Given the description of an element on the screen output the (x, y) to click on. 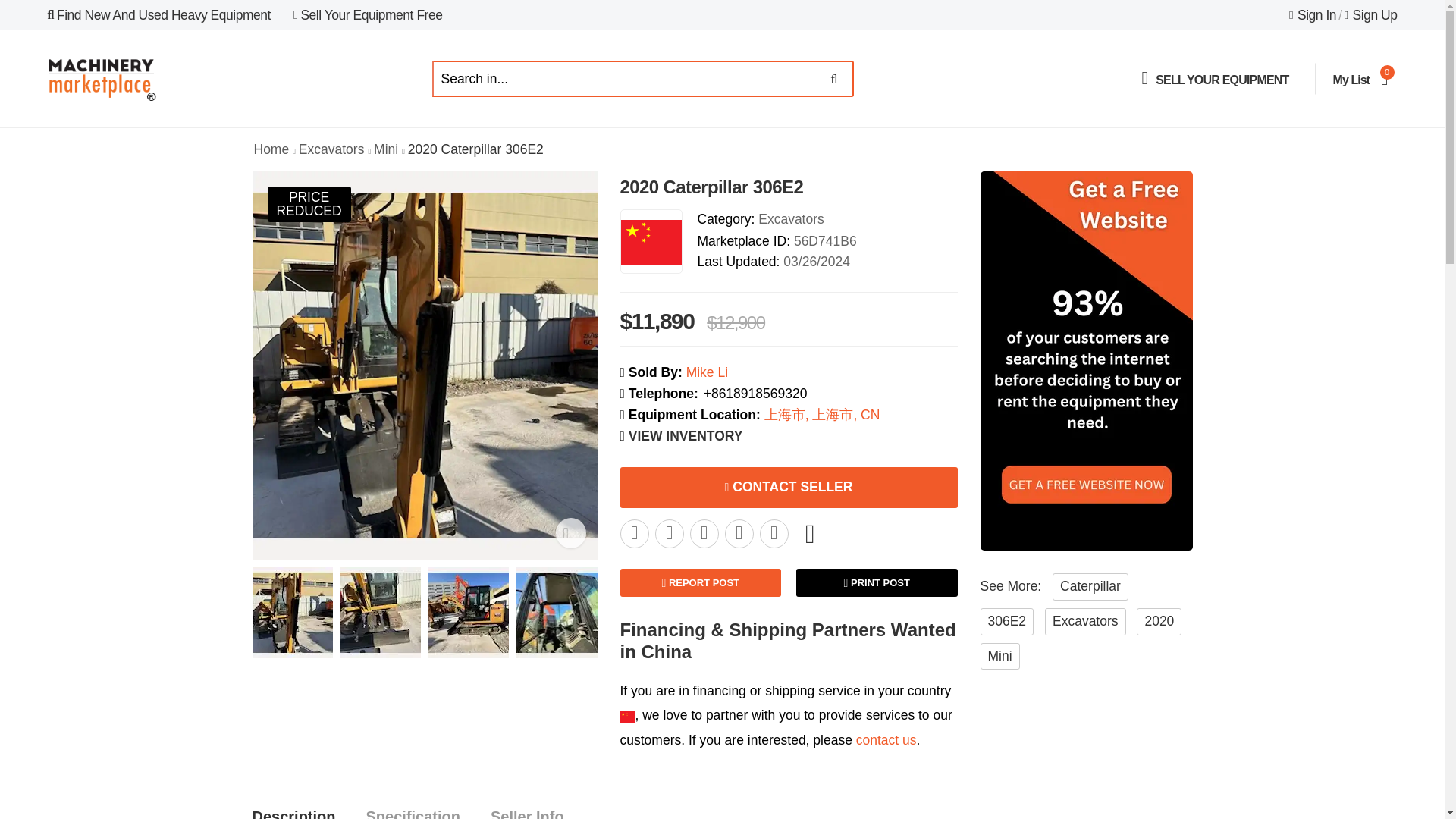
Save to My List (809, 533)
Find New And Used Heavy Equipment (158, 15)
Mini (385, 149)
2020 Caterpillar 306E2 - Caterpillar Excavators (669, 533)
Sell Your Equipment Free (368, 15)
contact us (886, 739)
CONTACT SELLER (789, 486)
Excavators (331, 149)
Home (270, 149)
Sign In (1361, 78)
Specification (1312, 14)
Description (413, 808)
Seller Info (292, 808)
Mike Li (527, 808)
